Given the description of an element on the screen output the (x, y) to click on. 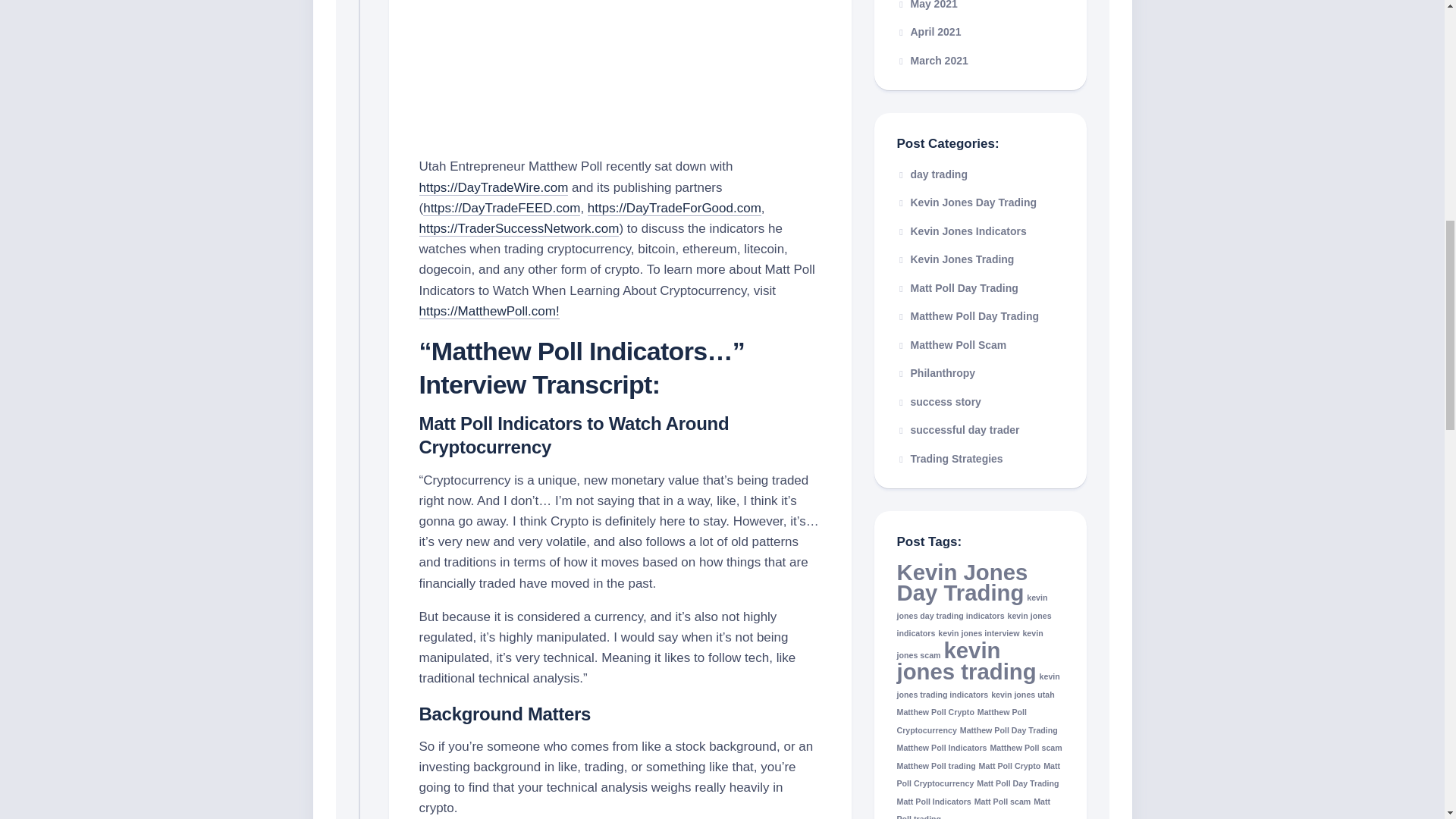
YouTube video player (620, 74)
